Given the description of an element on the screen output the (x, y) to click on. 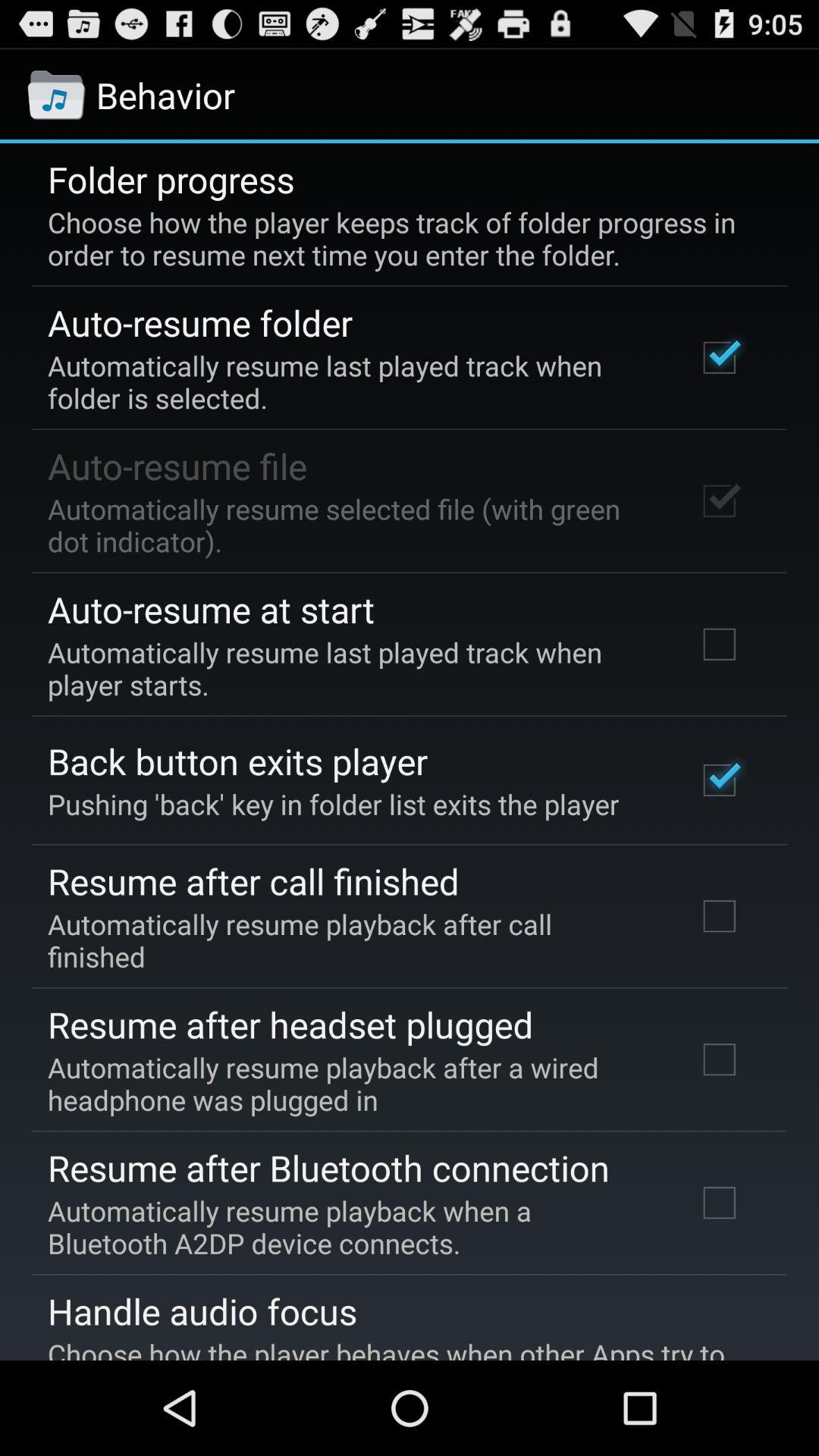
jump to the pushing back key (333, 803)
